Given the description of an element on the screen output the (x, y) to click on. 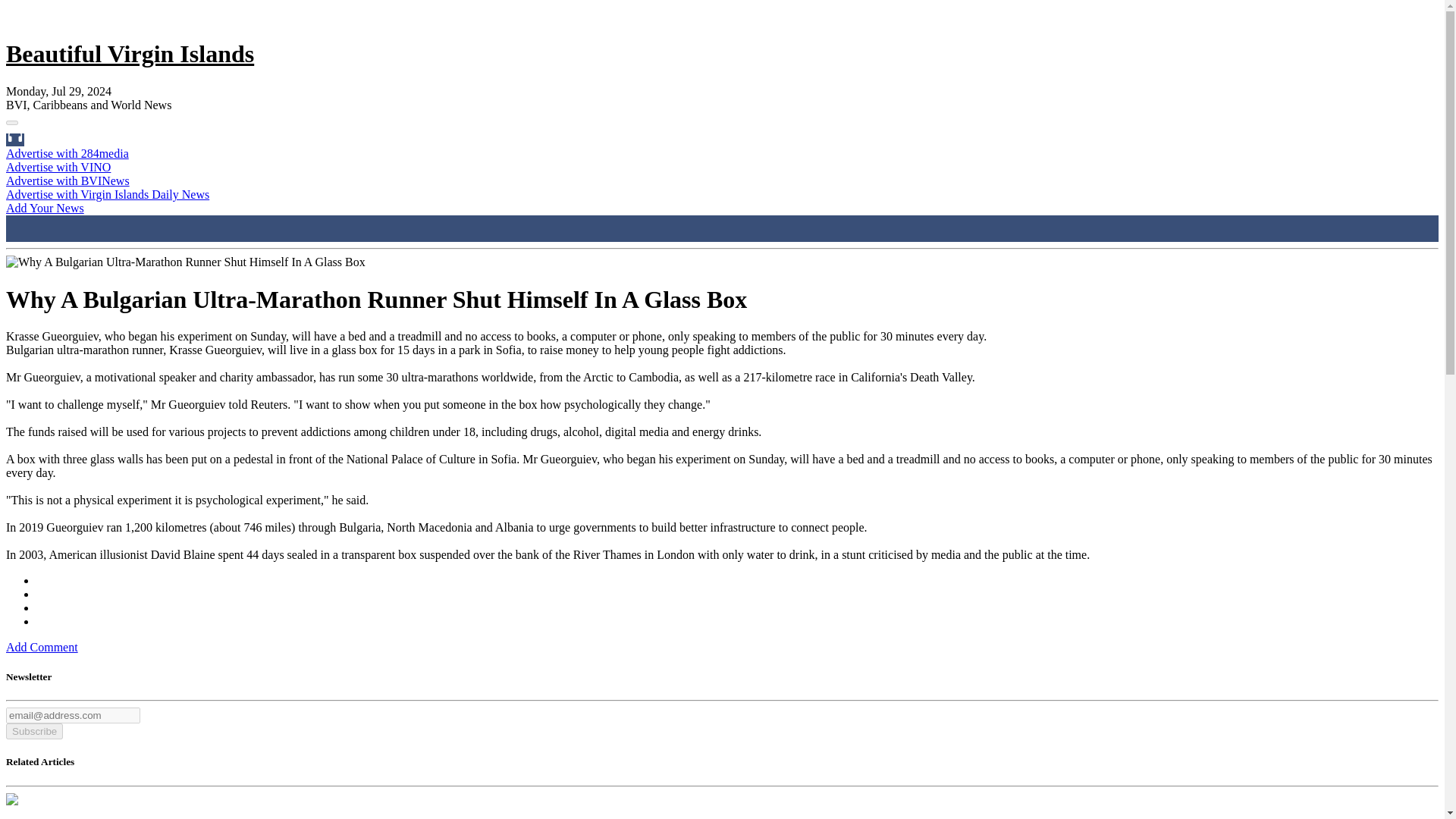
Advertise with BVINews (67, 180)
Subscribe (33, 731)
Advertise with Virgin Islands Daily News (107, 194)
Advertise with 284media (67, 153)
Beautiful Virgin Islands (129, 53)
Add Comment (41, 646)
Advertise with VINO (57, 166)
Add Your News (44, 207)
